Given the description of an element on the screen output the (x, y) to click on. 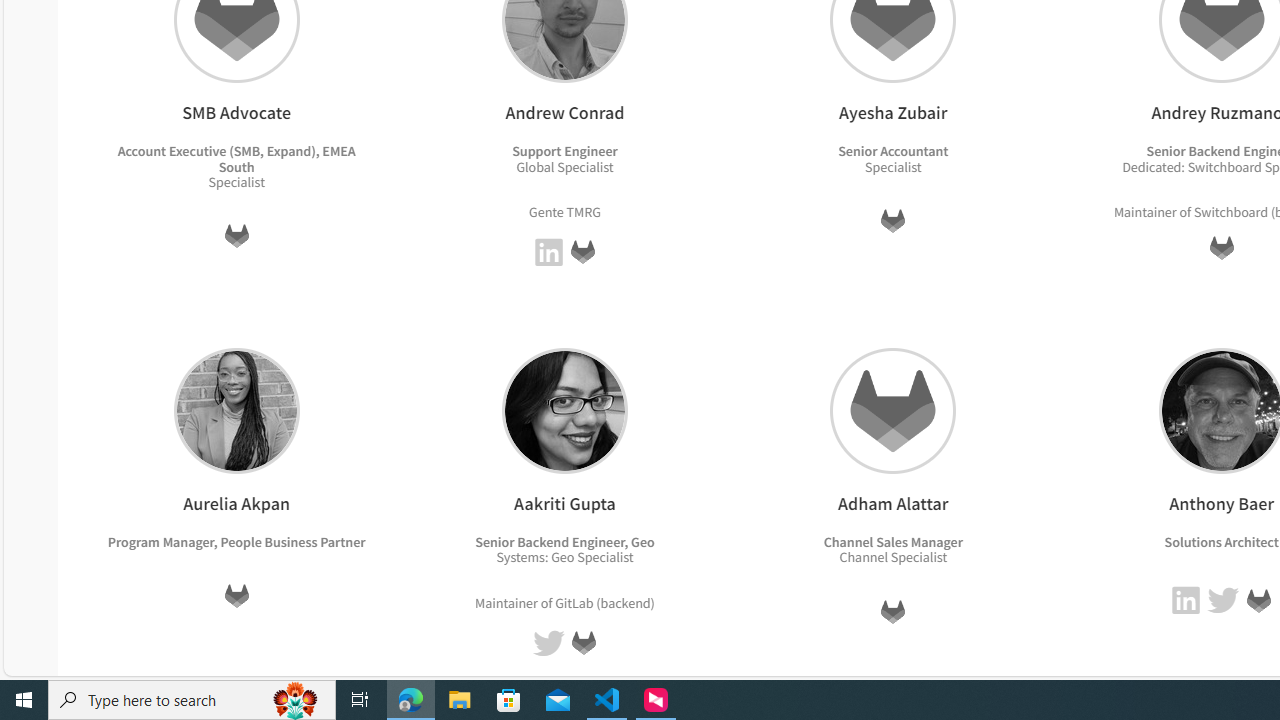
Aakriti Gupta (564, 410)
Specialist (918, 557)
Aurelia Akpan (236, 409)
Senior Backend Engineer, Geo (564, 541)
Adham Alattar (893, 410)
Program Manager, People Business Partner (236, 541)
Adham Alattar (893, 409)
Account Executive (SMB, Expand), EMEA South (235, 158)
Channel Sales Manager (892, 541)
GitLab (1258, 600)
Maintainer of GitLab (backend) (564, 601)
Aakriti Gupta (564, 409)
Support Engineer (565, 151)
Aurelia Akpan (235, 410)
